Given the description of an element on the screen output the (x, y) to click on. 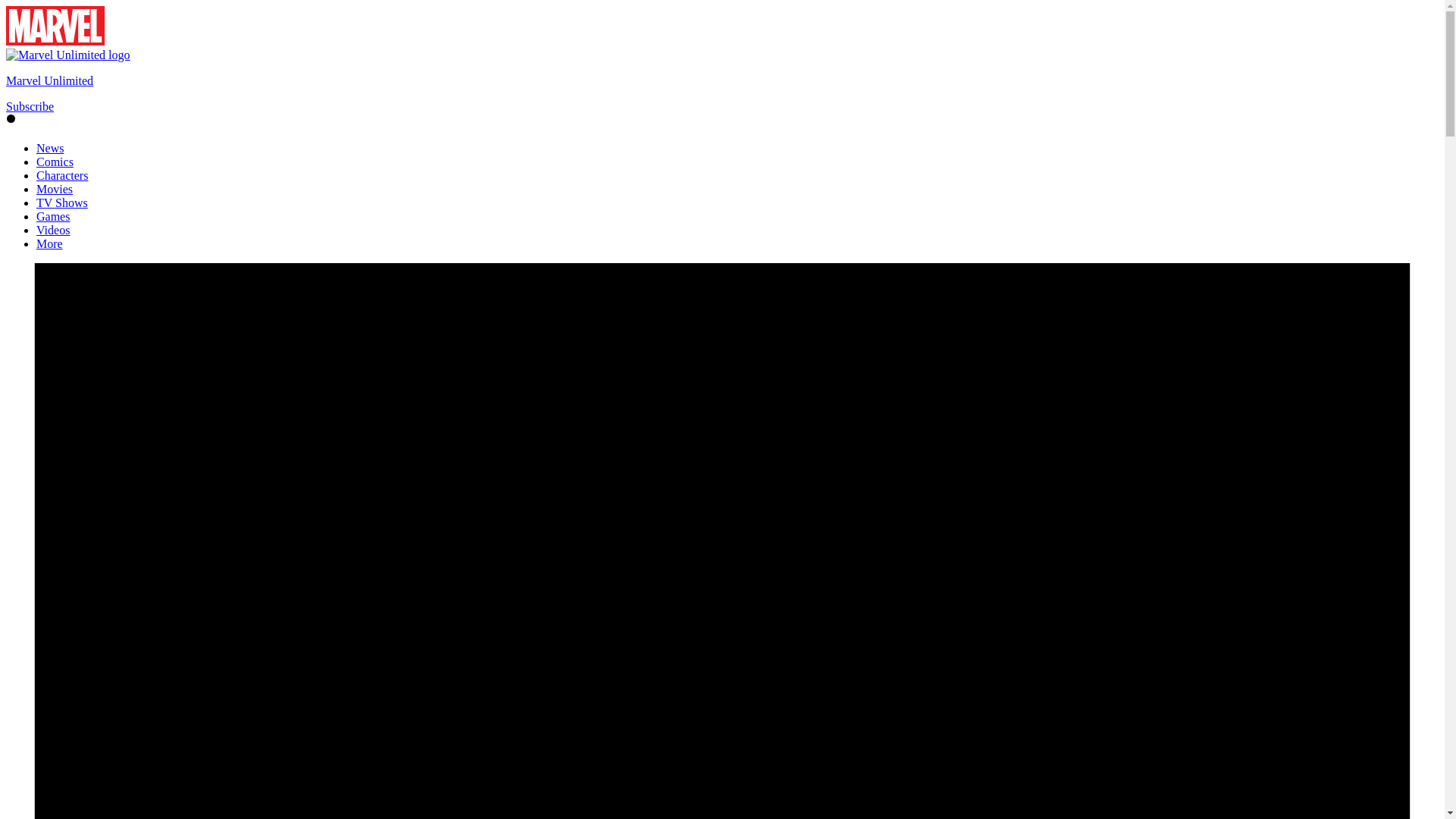
Movies (54, 188)
Videos (52, 229)
Games (52, 215)
Comics (55, 161)
TV Shows (61, 202)
More (49, 243)
News (50, 147)
Characters (61, 174)
